Given the description of an element on the screen output the (x, y) to click on. 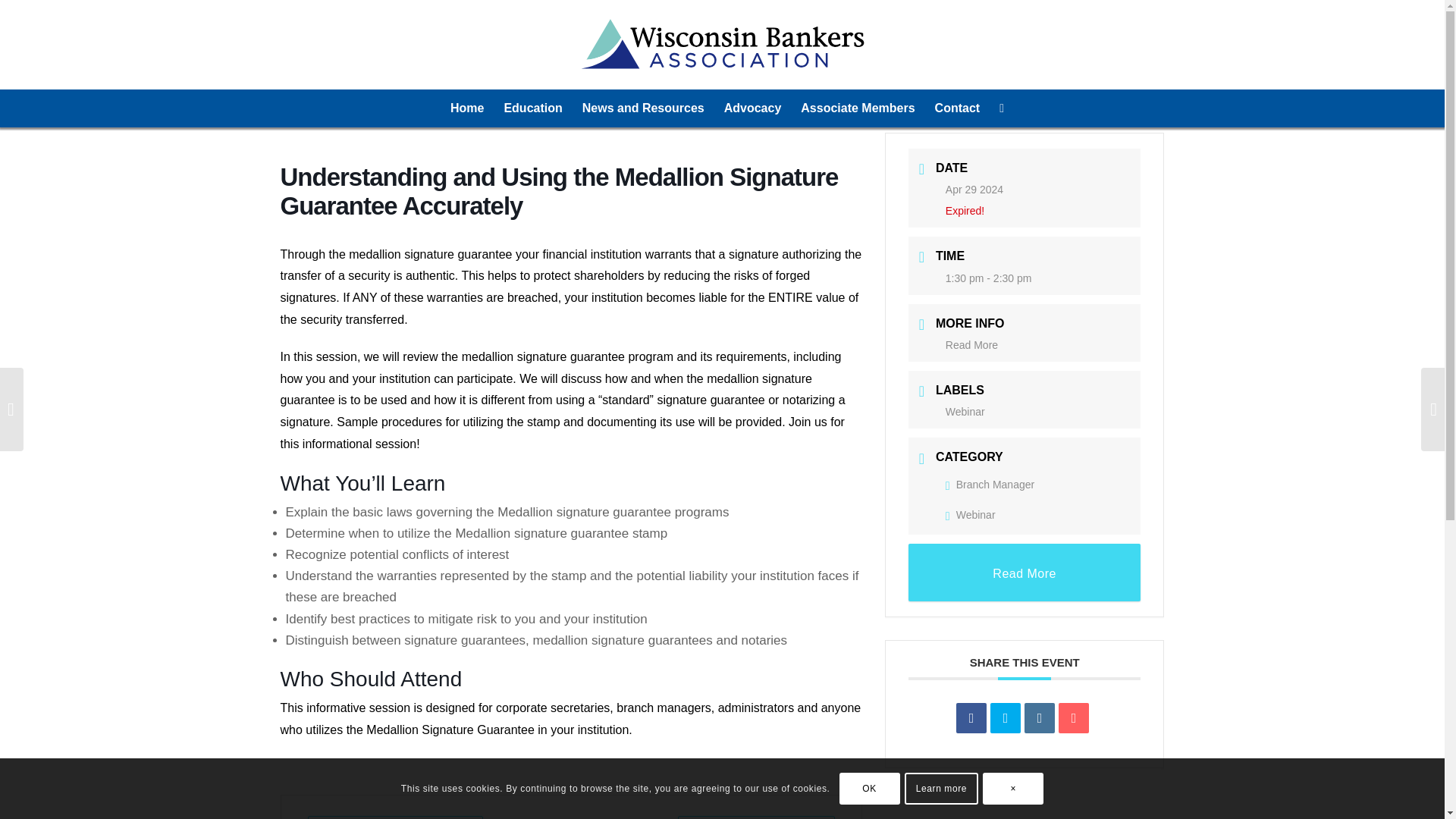
Contact (957, 108)
Branch Manager (988, 484)
Linkedin (1039, 717)
Tweet (1005, 717)
Wisconsin Bank Industry Advocacy (753, 108)
Education (532, 108)
Webinar (969, 514)
Contact Wisconsin Banking Industry (957, 108)
News and Resources (643, 108)
Wisconsin-Bankers-Association-logo (722, 44)
Email (1073, 717)
Home (467, 108)
Wisconsin Banking Industry Vendors (857, 108)
Read More (1024, 572)
Wisconsin-Bankers-Association-logo (722, 44)
